Given the description of an element on the screen output the (x, y) to click on. 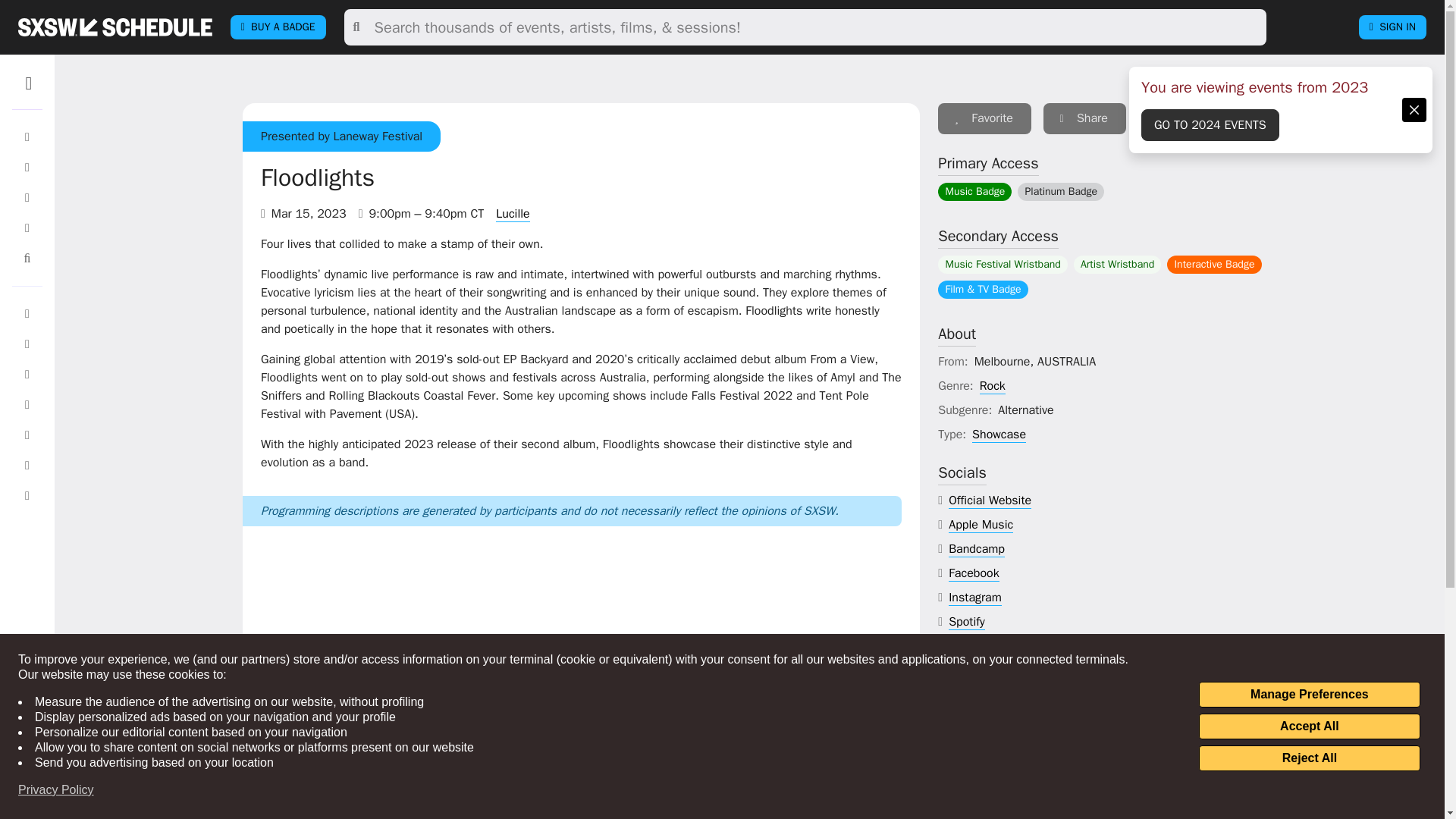
BUY A BADGE (278, 27)
sxsw SCHEDULE (114, 27)
Reject All (1309, 758)
Manage Preferences (1309, 694)
facebook (973, 573)
youtube (970, 646)
Accept All (1309, 726)
instagram (975, 597)
Sign In to add to your favorites. (983, 118)
bandcamp (976, 549)
